Given the description of an element on the screen output the (x, y) to click on. 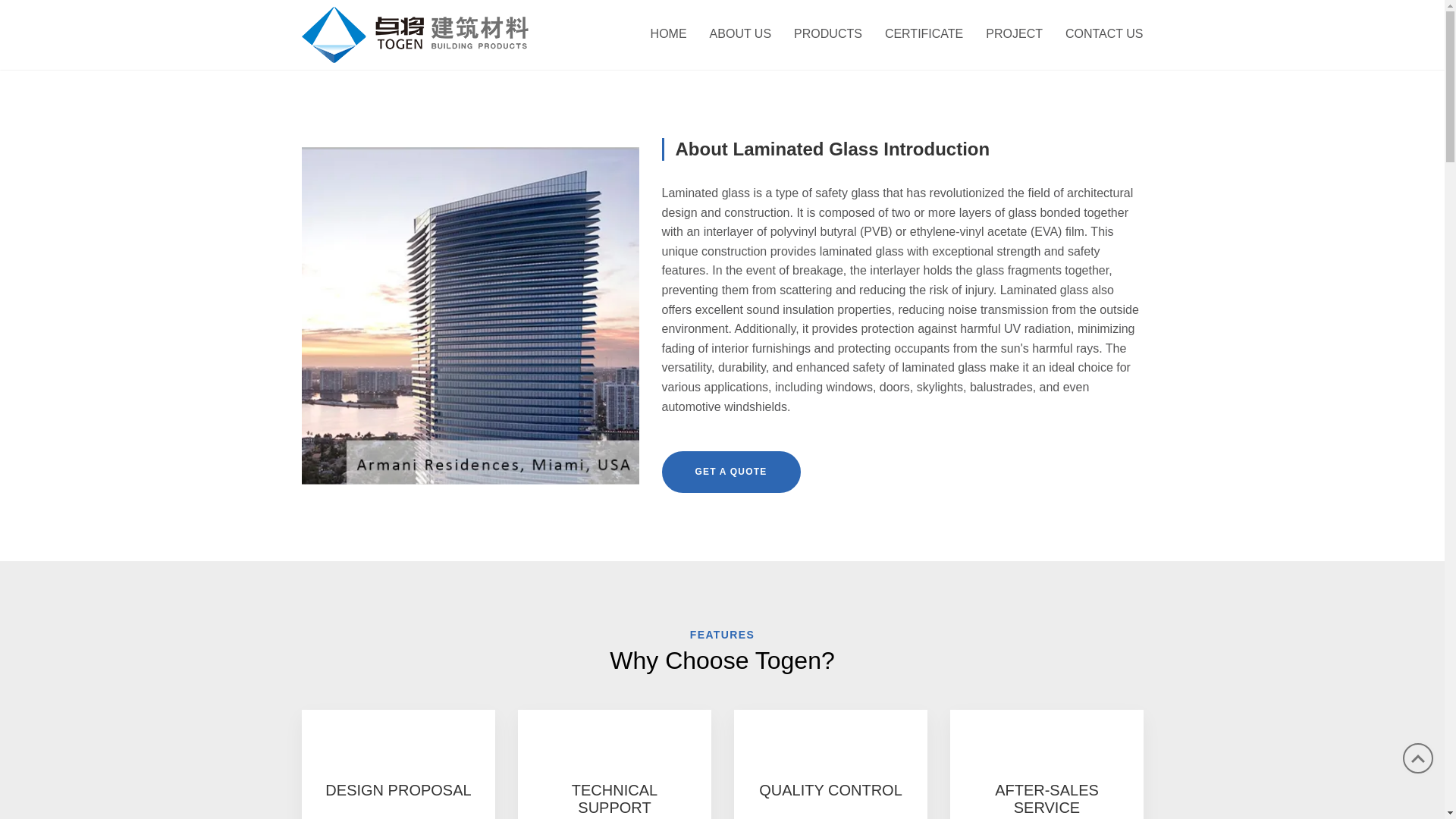
PROJECT (1014, 34)
Back To Home (415, 33)
CERTIFICATE (923, 34)
GET A QUOTE (730, 472)
PRODUCTS (828, 34)
GET A QUOTE (730, 472)
CONTACT US (1098, 34)
HOME (668, 34)
ABOUT US (740, 34)
